Given the description of an element on the screen output the (x, y) to click on. 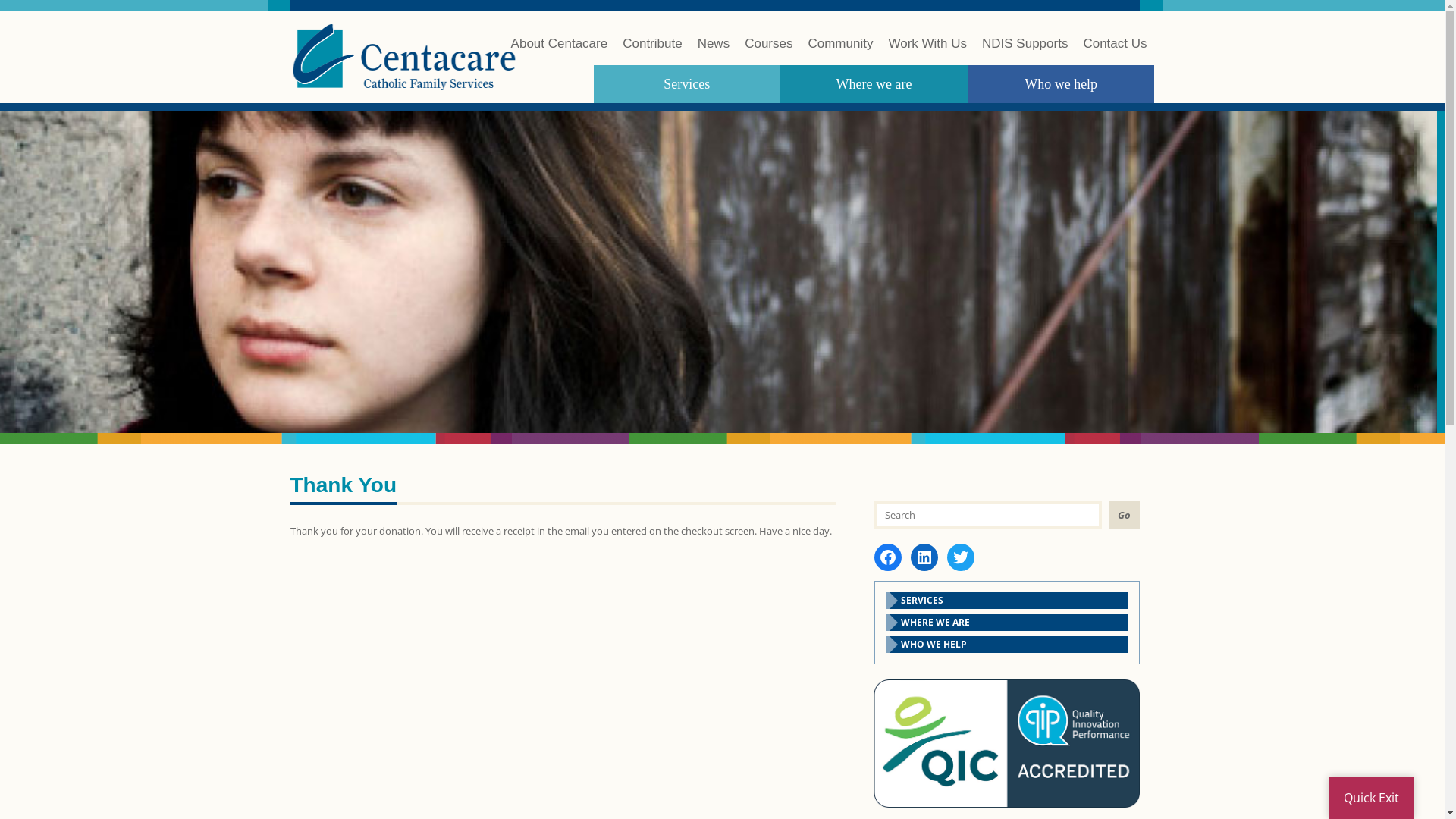
Services Element type: text (686, 84)
WHERE WE ARE Element type: text (1006, 622)
Who we help Element type: text (1060, 84)
Contribute Element type: text (651, 51)
Twitter Element type: text (959, 557)
WHO WE HELP Element type: text (1006, 644)
Where we are Element type: text (873, 84)
About Centacare Element type: text (559, 51)
Work With Us Element type: text (927, 51)
Contact Us Element type: text (1114, 51)
News Element type: text (713, 51)
Go Element type: text (1123, 514)
Courses Element type: text (768, 51)
Thank You Element type: text (342, 489)
Community Element type: text (839, 51)
LinkedIn Element type: text (923, 557)
SERVICES Element type: text (1006, 600)
NDIS Supports Element type: text (1024, 51)
Facebook Element type: text (886, 557)
